Given the description of an element on the screen output the (x, y) to click on. 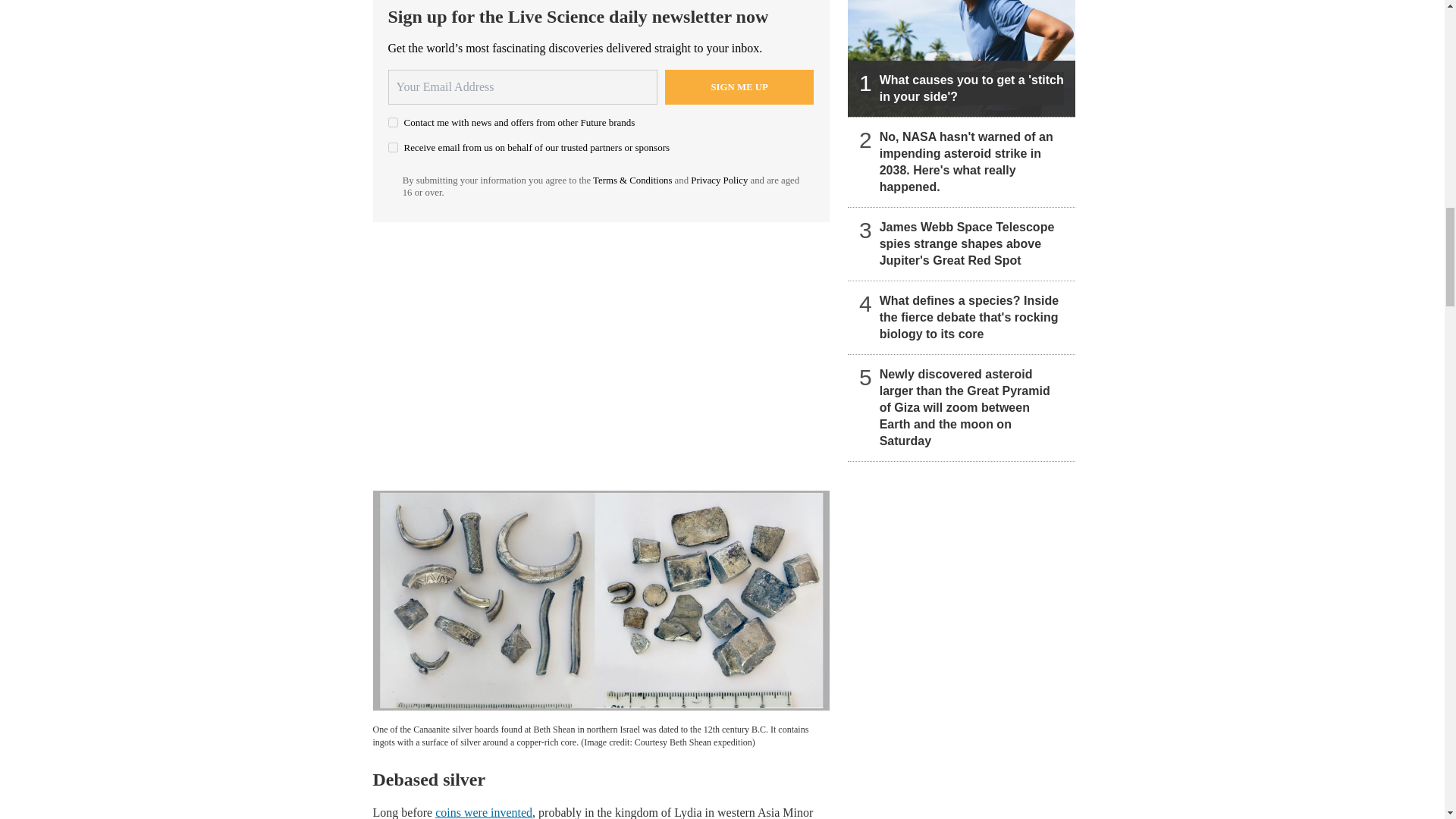
on (392, 147)
on (392, 122)
Sign me up (739, 86)
